Given the description of an element on the screen output the (x, y) to click on. 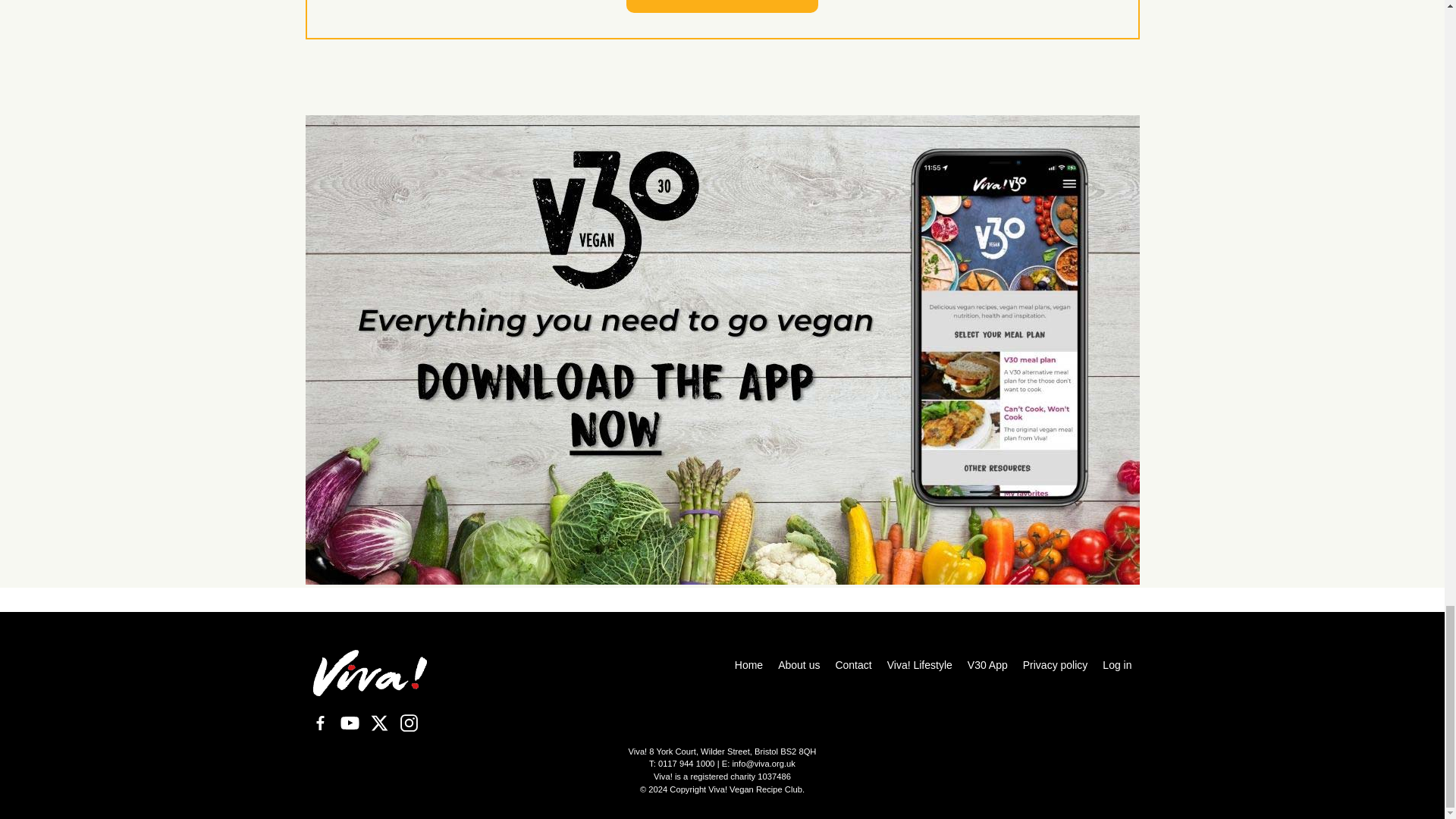
Youtube (349, 723)
Facebook (319, 723)
